Given the description of an element on the screen output the (x, y) to click on. 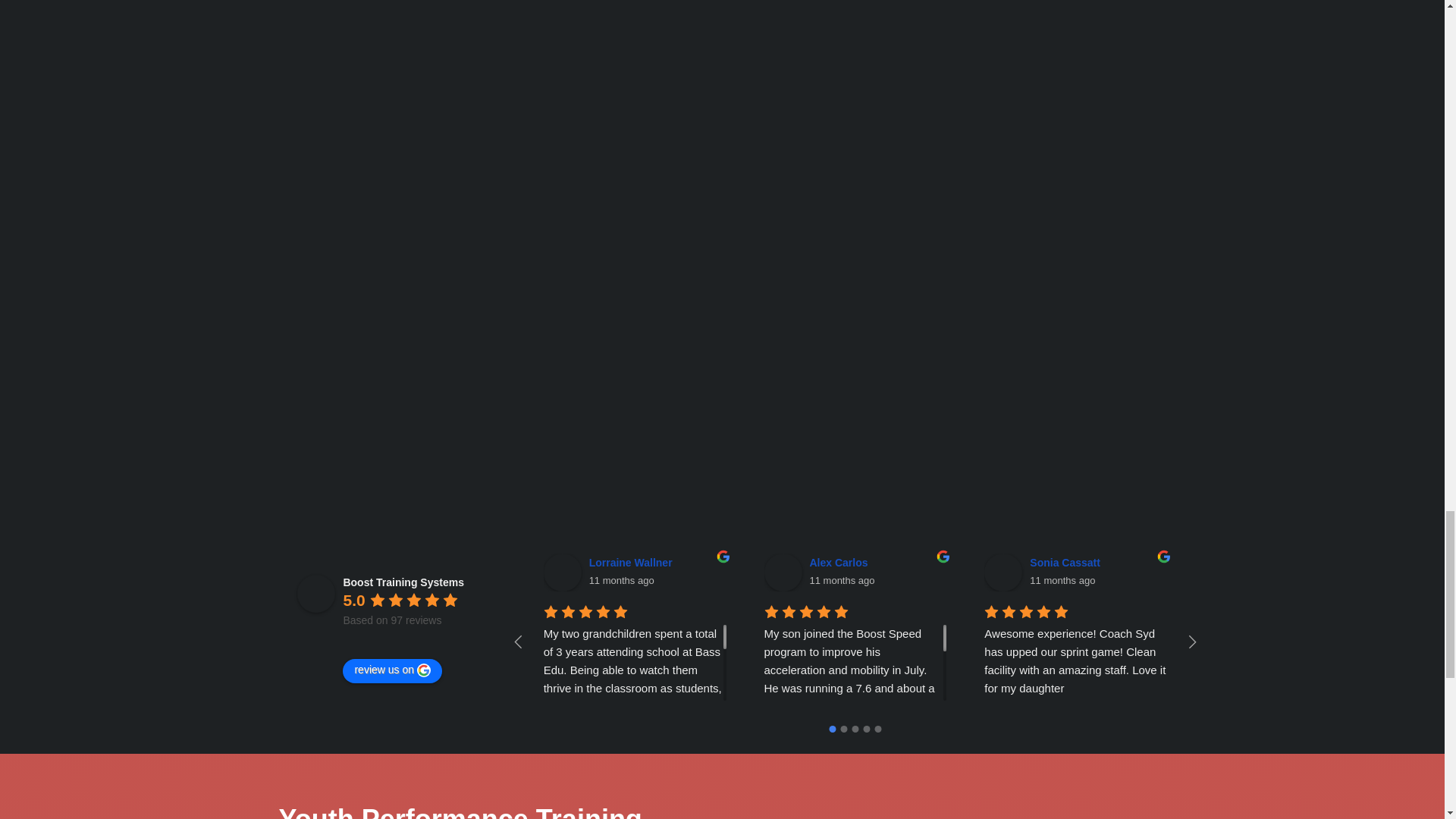
Boost Training Systems (315, 593)
Boost Training Systems (402, 582)
Alex Carlos (783, 572)
Lorraine Wallner (633, 562)
Sonia Cassatt (1003, 572)
Sonia Cassatt (1067, 562)
Alex Carlos (840, 562)
Lorraine Wallner (561, 572)
Rosario Barroso (1294, 562)
powered by Google (396, 639)
